Given the description of an element on the screen output the (x, y) to click on. 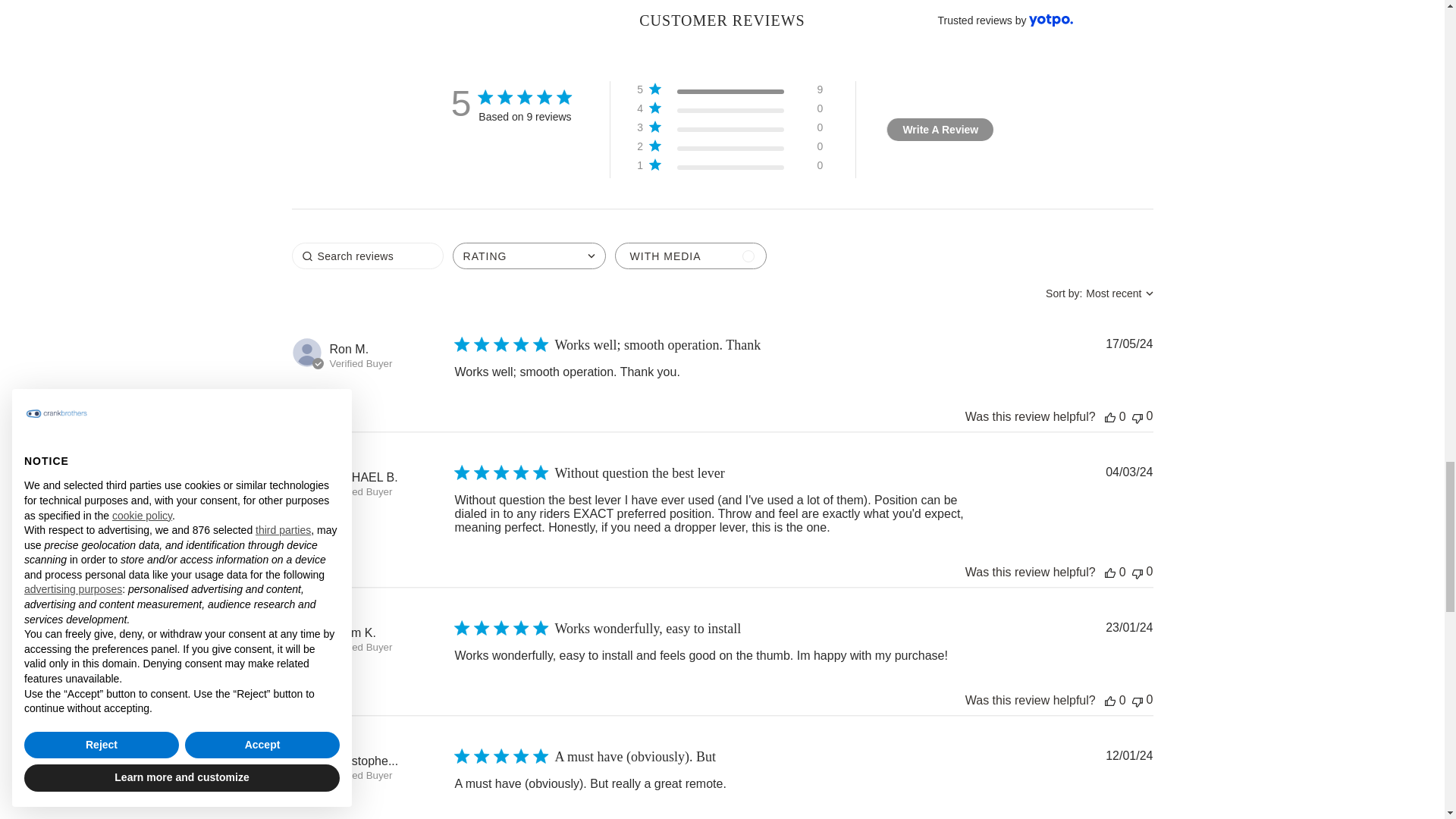
Christopher C. (363, 761)
MICHAEL B. (363, 477)
Adam K. (352, 632)
Ron M. (348, 349)
